Given the description of an element on the screen output the (x, y) to click on. 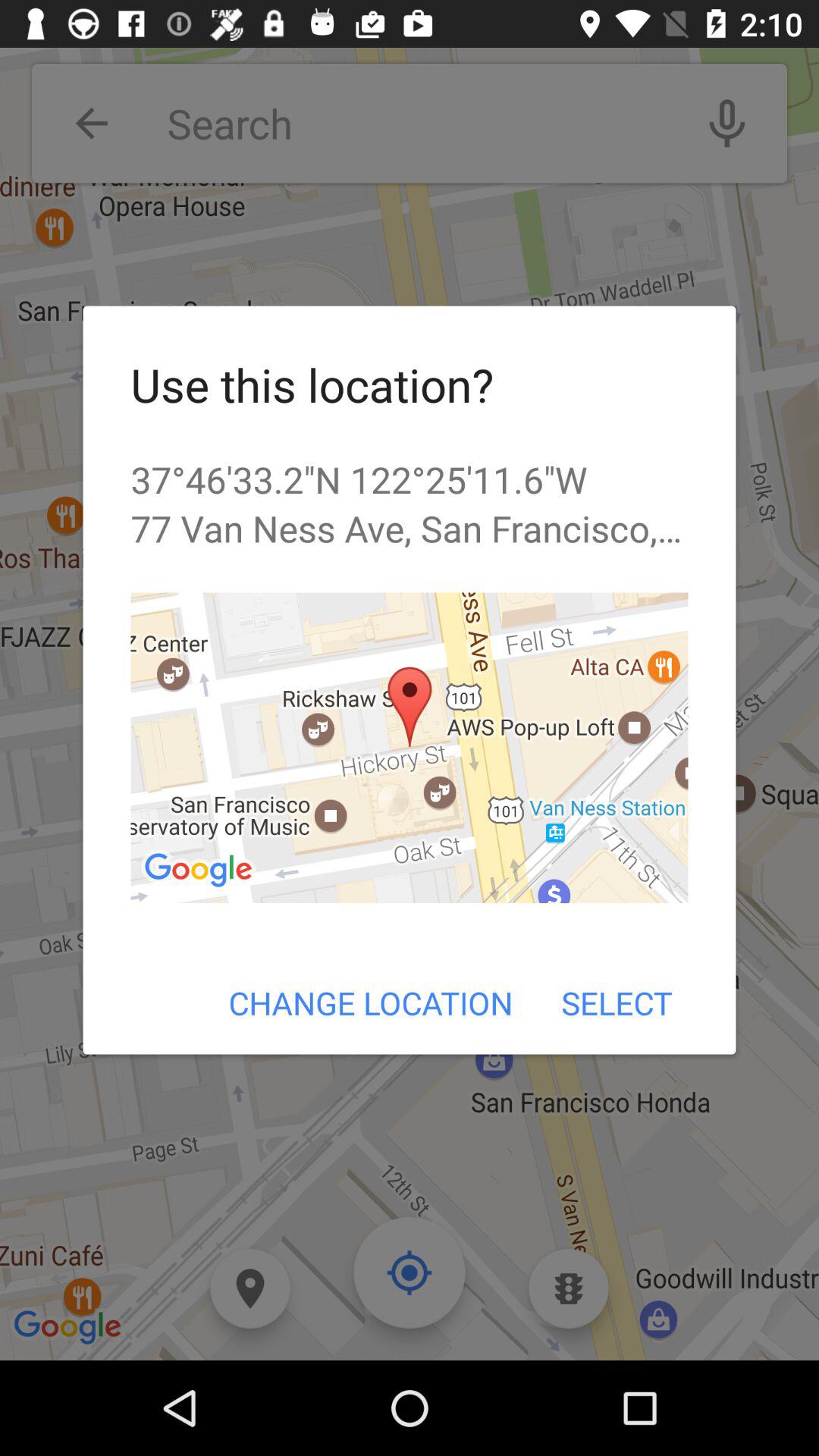
select the item next to the change location icon (616, 1002)
